Given the description of an element on the screen output the (x, y) to click on. 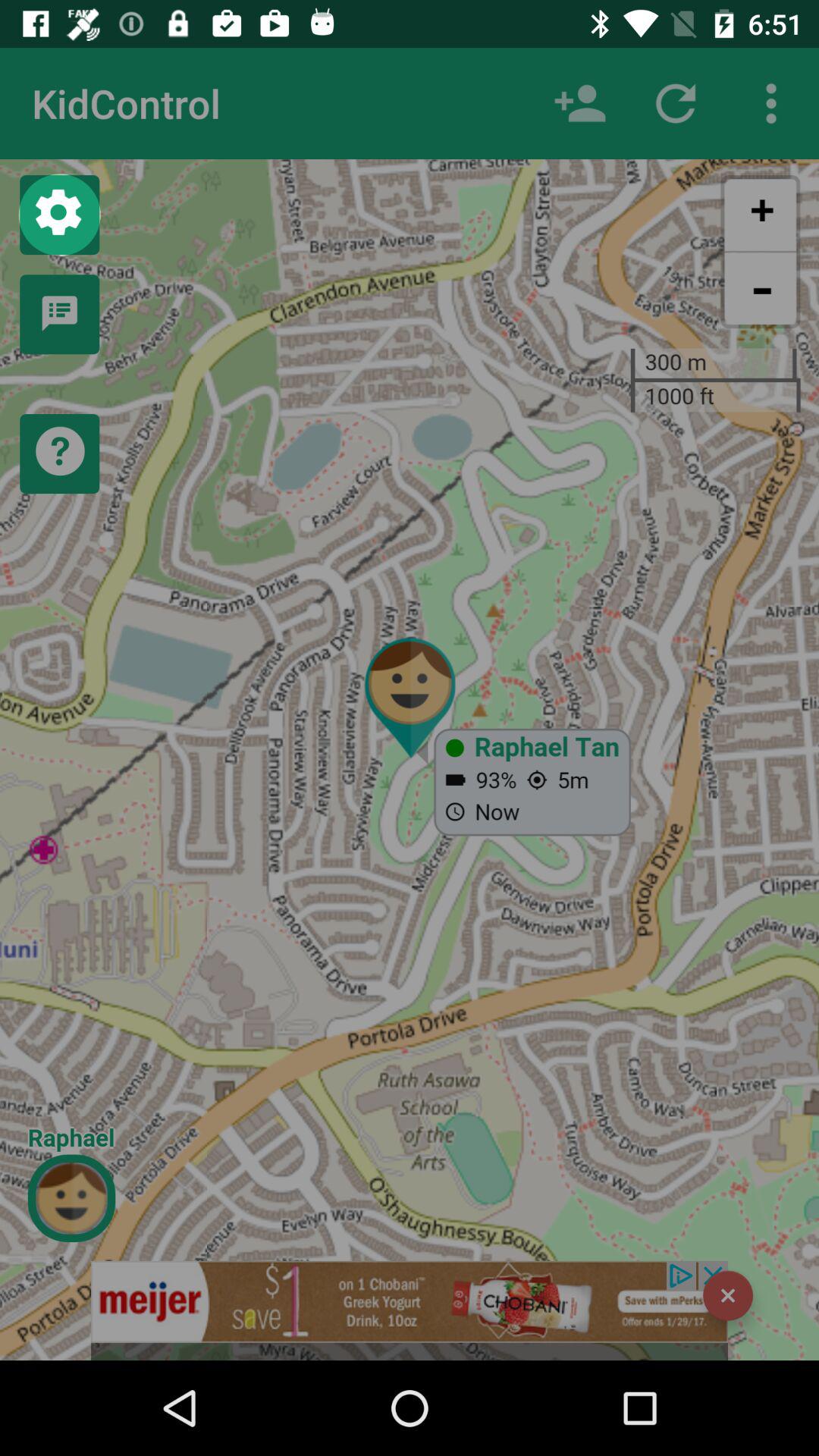
open the icon next to kidcontrol (579, 103)
